Given the description of an element on the screen output the (x, y) to click on. 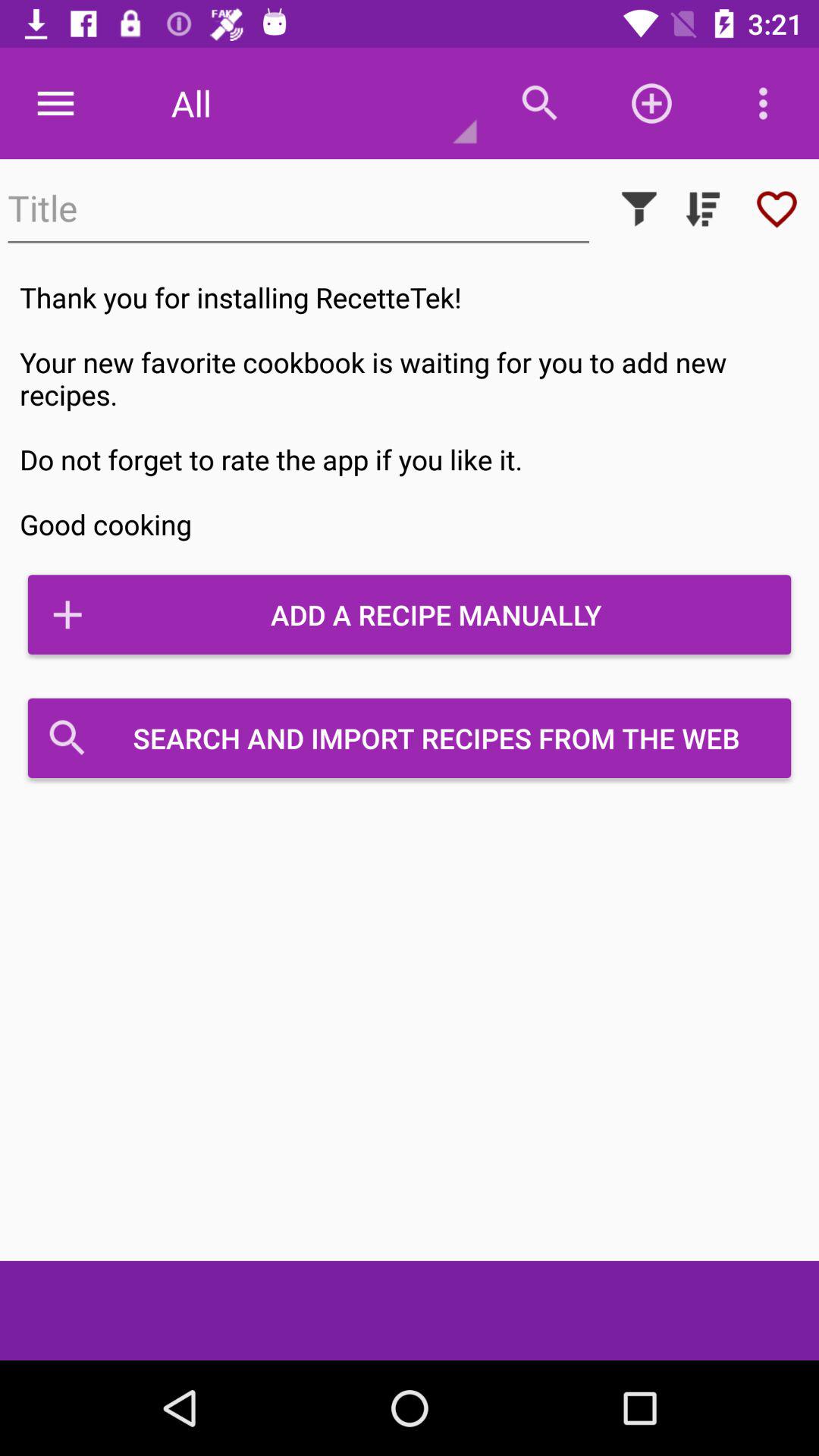
tap the item next to the all item (55, 103)
